Given the description of an element on the screen output the (x, y) to click on. 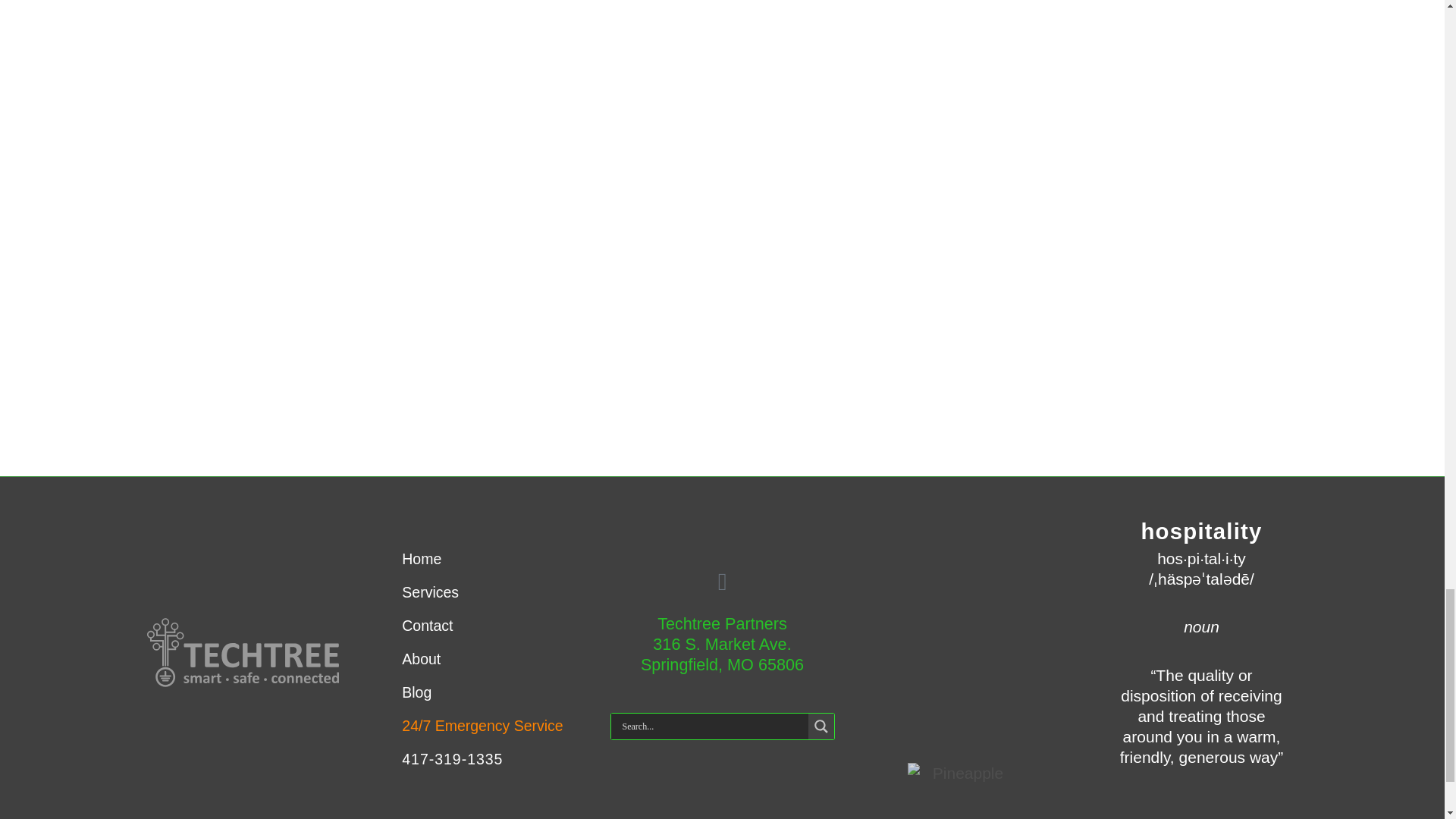
Pineapple (961, 664)
